Given the description of an element on the screen output the (x, y) to click on. 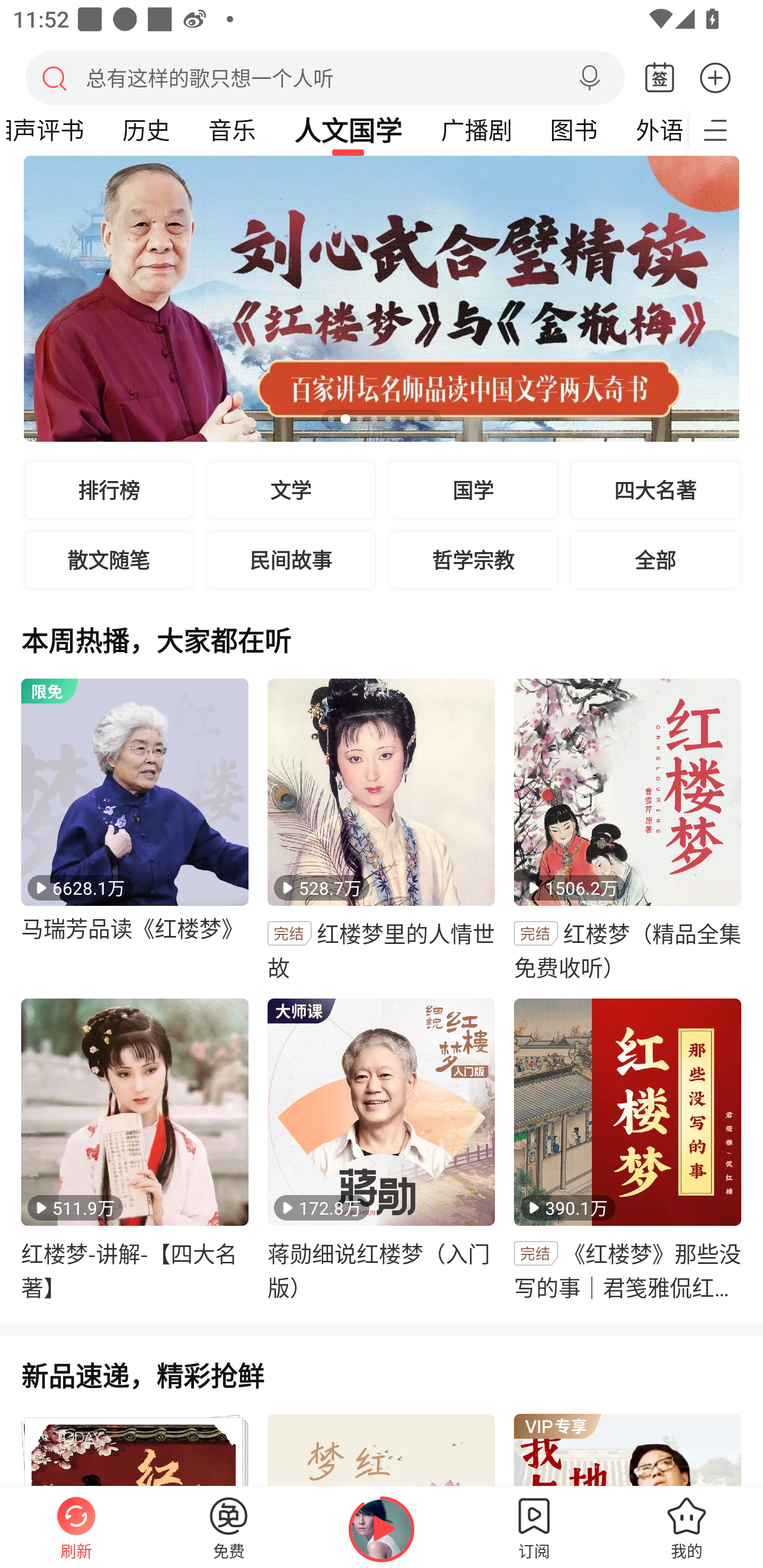
搜索 总有这样的歌只想一个人听 语音搜索 (324, 77)
更多 (714, 77)
签到 (659, 78)
语音搜索 (589, 78)
历史 (146, 130)
音乐 (231, 130)
人文国学 (347, 130)
广播剧 (476, 130)
图书 (573, 130)
外语 (652, 130)
更多频道 (726, 130)
焦点图 (381, 298)
排行榜 (108, 489)
文学 (290, 489)
国学 (473, 489)
四大名著 (655, 489)
散文随笔 (108, 559)
民间故事 (290, 559)
哲学宗教 (473, 559)
全部 (655, 559)
本周热播，大家都在听 (381, 650)
专辑标签 6628.1万 马瑞芳品读《红楼梦》 (134, 830)
528.7万   红楼梦里的人情世故 (381, 830)
1506.2万   红楼梦（精品全集免费收听） (627, 830)
511.9万 红楼梦-讲解-【四大名著】 (134, 1150)
专辑标签 172.8万 蒋勋细说红楼梦（入门版） (381, 1150)
390.1万   《红楼梦》那些没写的事｜君笺雅侃红楼｜国学经典 (627, 1150)
新品速递，精彩抢鲜 (381, 1385)
刷新 (76, 1526)
免费 (228, 1526)
订阅 (533, 1526)
我的 (686, 1526)
继续播放Alpha-橘子海OrangeOcean (381, 1529)
